Given the description of an element on the screen output the (x, y) to click on. 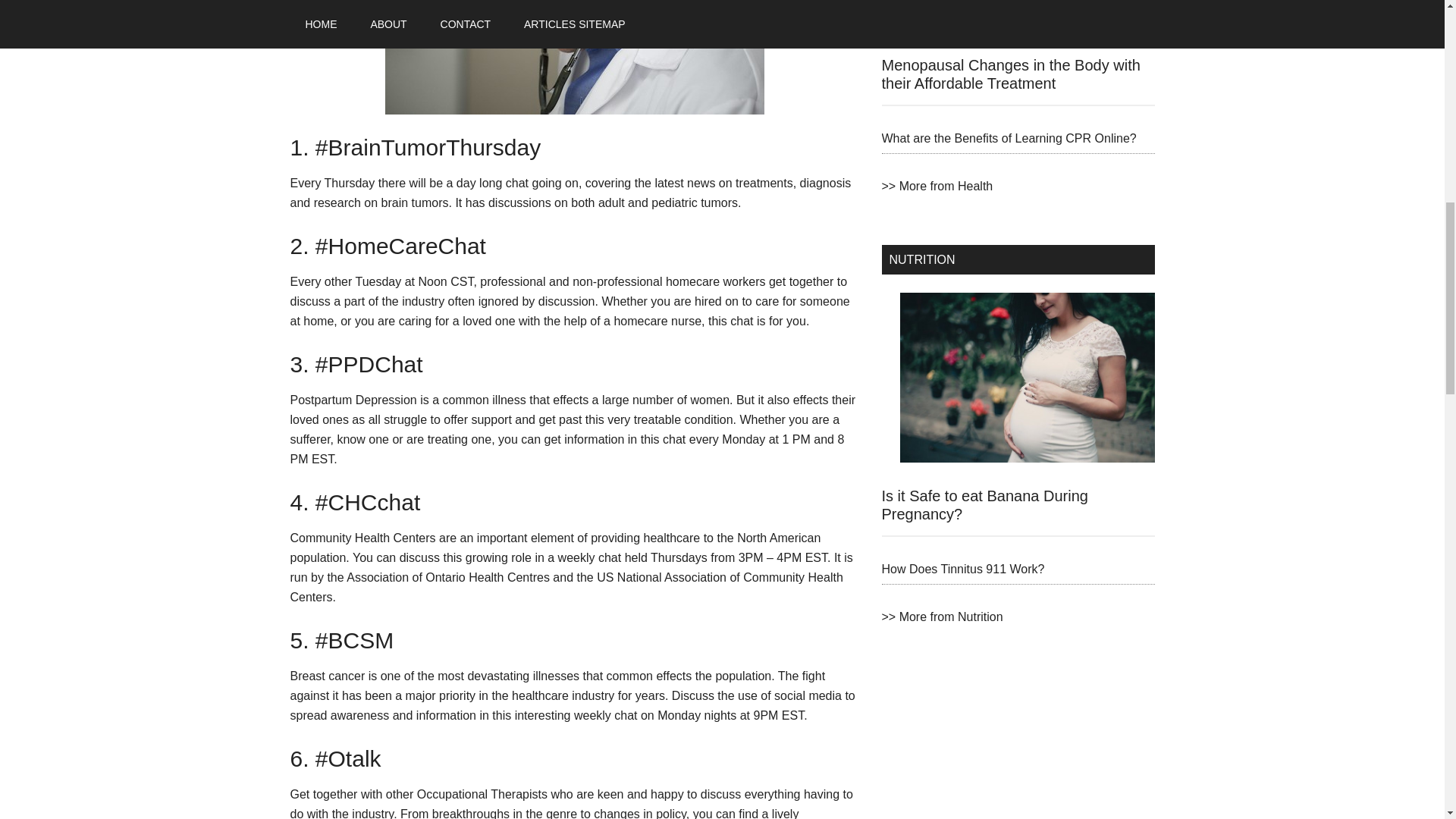
Nutrition (941, 616)
What are the Benefits of Learning CPR Online? (1007, 137)
Time for a Check-Up by Alex E. Proimos, on Flickr (574, 57)
Health (936, 185)
